Given the description of an element on the screen output the (x, y) to click on. 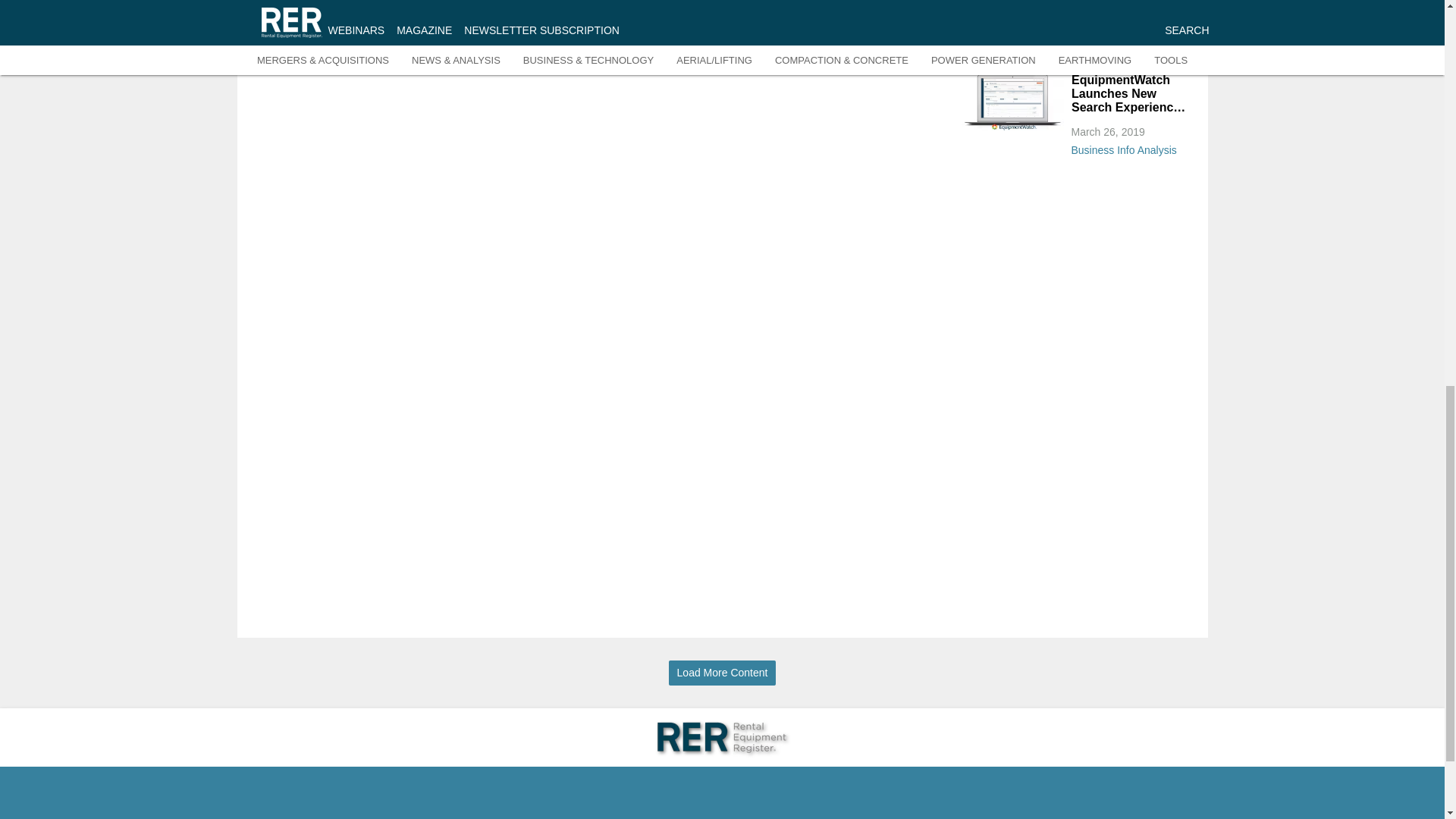
Image (1012, 101)
Bricks Clicks (1129, 51)
Crown39s DualMode T tow tractor (1012, 17)
